Given the description of an element on the screen output the (x, y) to click on. 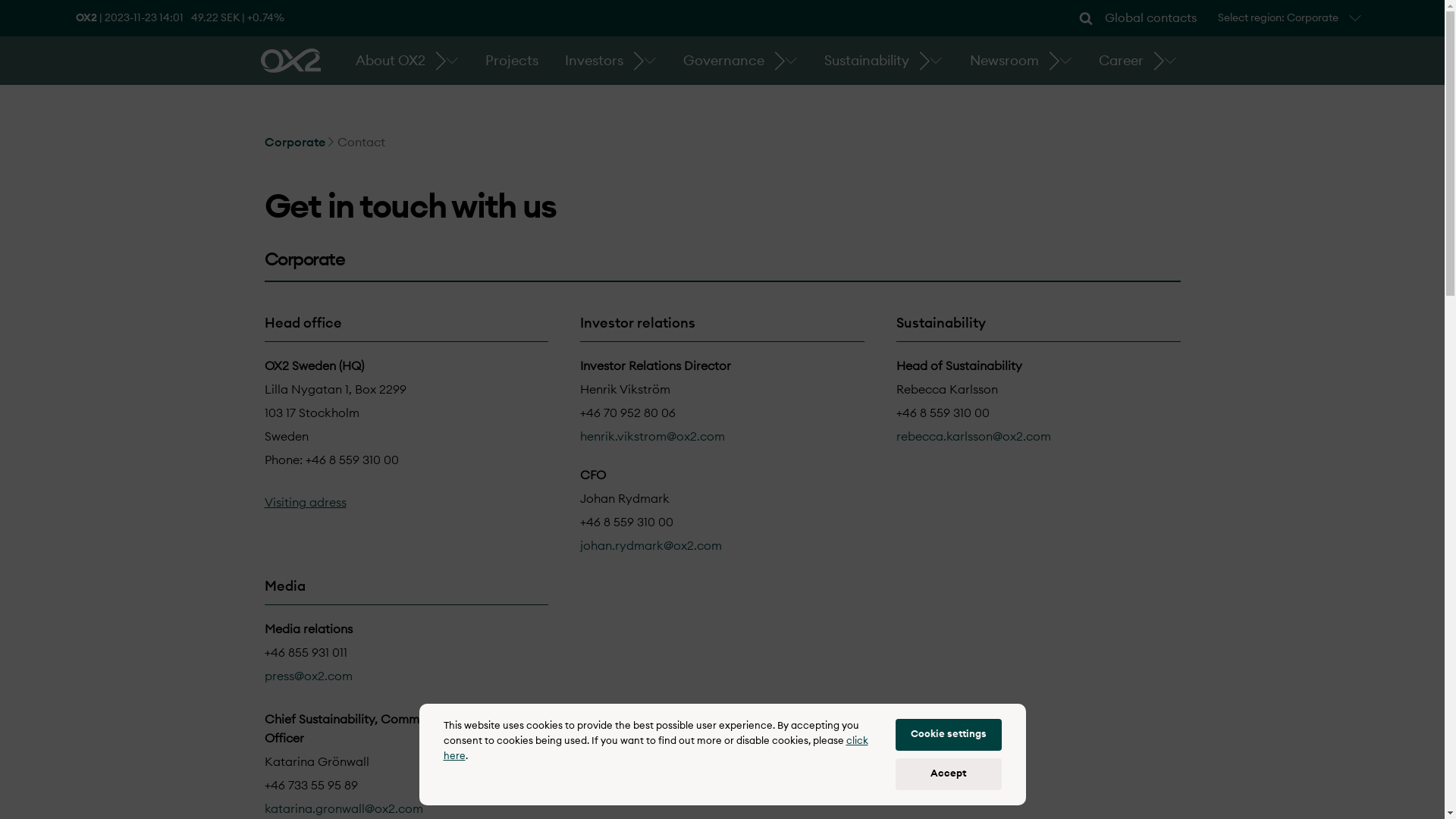
Investors Element type: text (593, 60)
henrik.vikstrom@ox2.com Element type: text (652, 436)
click here Element type: text (654, 748)
katarina.gronwall@ox2.com Element type: text (342, 809)
Corporate Element type: text (298, 142)
Career Element type: text (1120, 60)
Cookie settings Element type: text (947, 734)
Projects Element type: text (511, 60)
Newsroom Element type: text (1003, 60)
About OX2 Element type: text (390, 60)
Visiting adress Element type: text (304, 502)
johan.rydmark@ox2.com Element type: text (650, 545)
Sustainability Element type: text (866, 60)
Global contacts Element type: text (1150, 18)
Governance Element type: text (723, 60)
rebecca.karlsson@ox2.com Element type: text (973, 436)
Accept Element type: text (947, 774)
press@ox2.com Element type: text (307, 676)
